Given the description of an element on the screen output the (x, y) to click on. 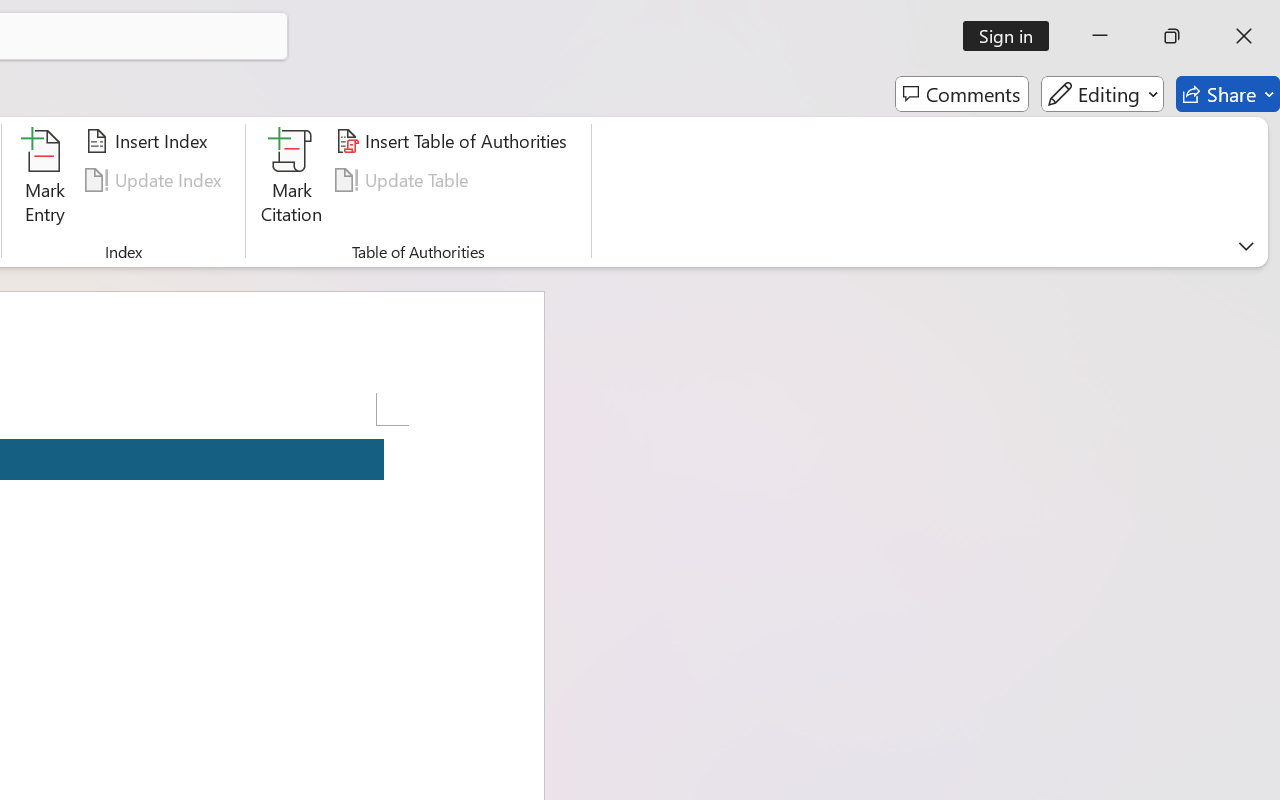
Update Index (156, 179)
Insert Table of Authorities... (453, 141)
Insert Index... (149, 141)
Mark Citation... (292, 179)
Update Table (404, 179)
Mark Entry... (44, 179)
Editing (1101, 94)
Sign in (1012, 35)
